Given the description of an element on the screen output the (x, y) to click on. 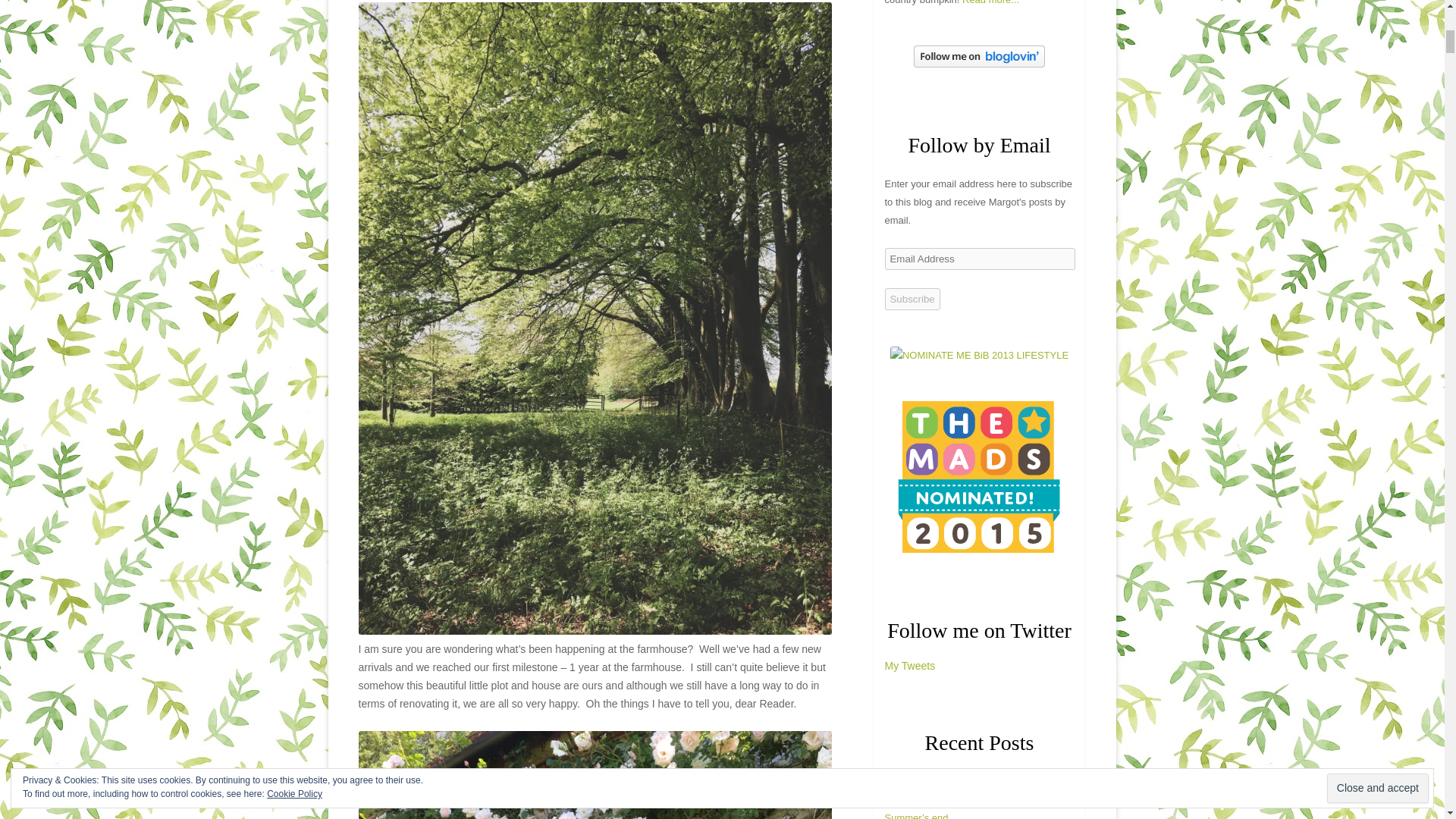
Tots100 MAD Blog Awards (978, 549)
Brilliance in Blogging (978, 355)
Follow Margot Tries the Good Life on Bloglovin (979, 63)
